Given the description of an element on the screen output the (x, y) to click on. 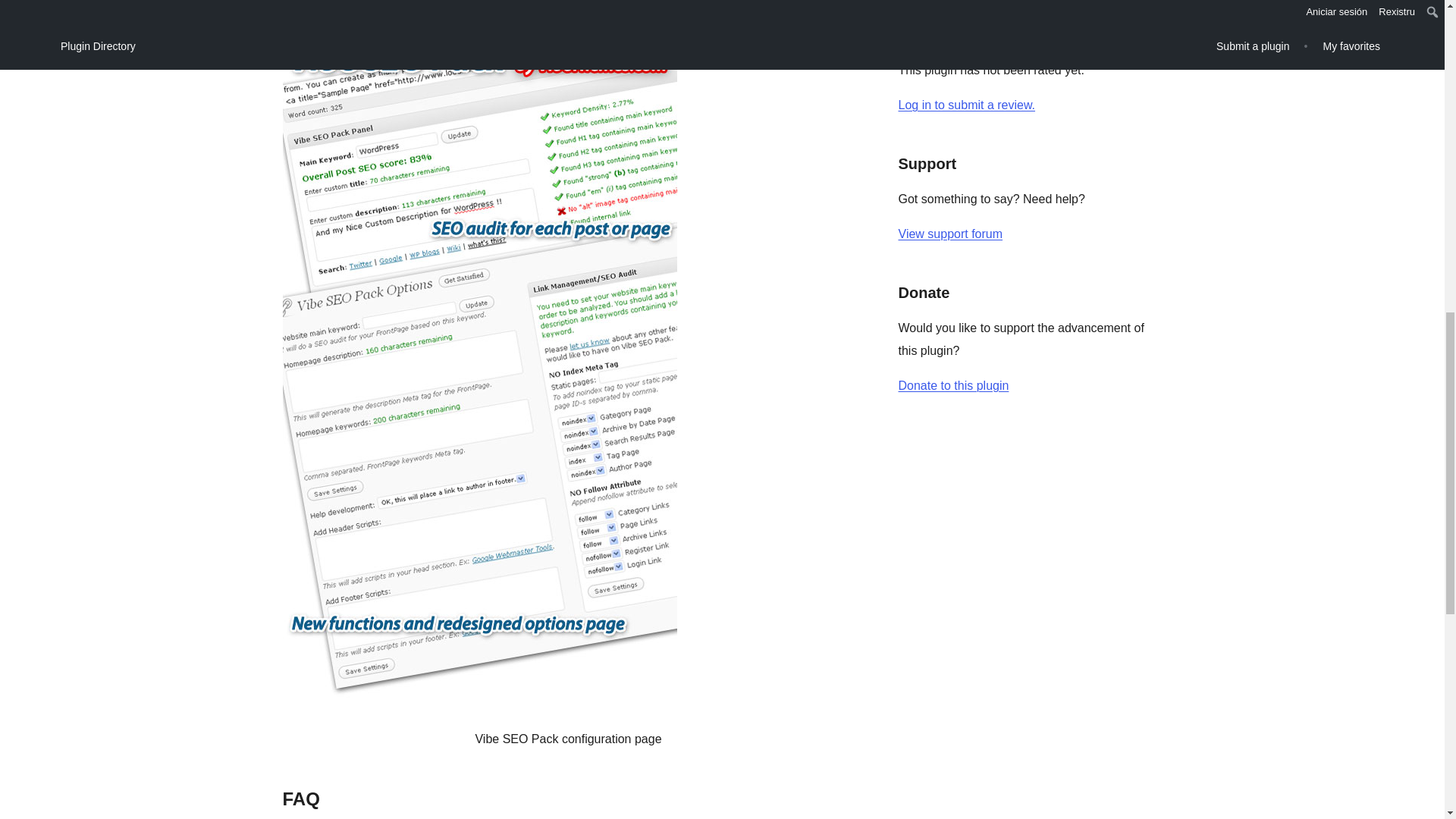
Log in to WordPress.org (966, 104)
